Given the description of an element on the screen output the (x, y) to click on. 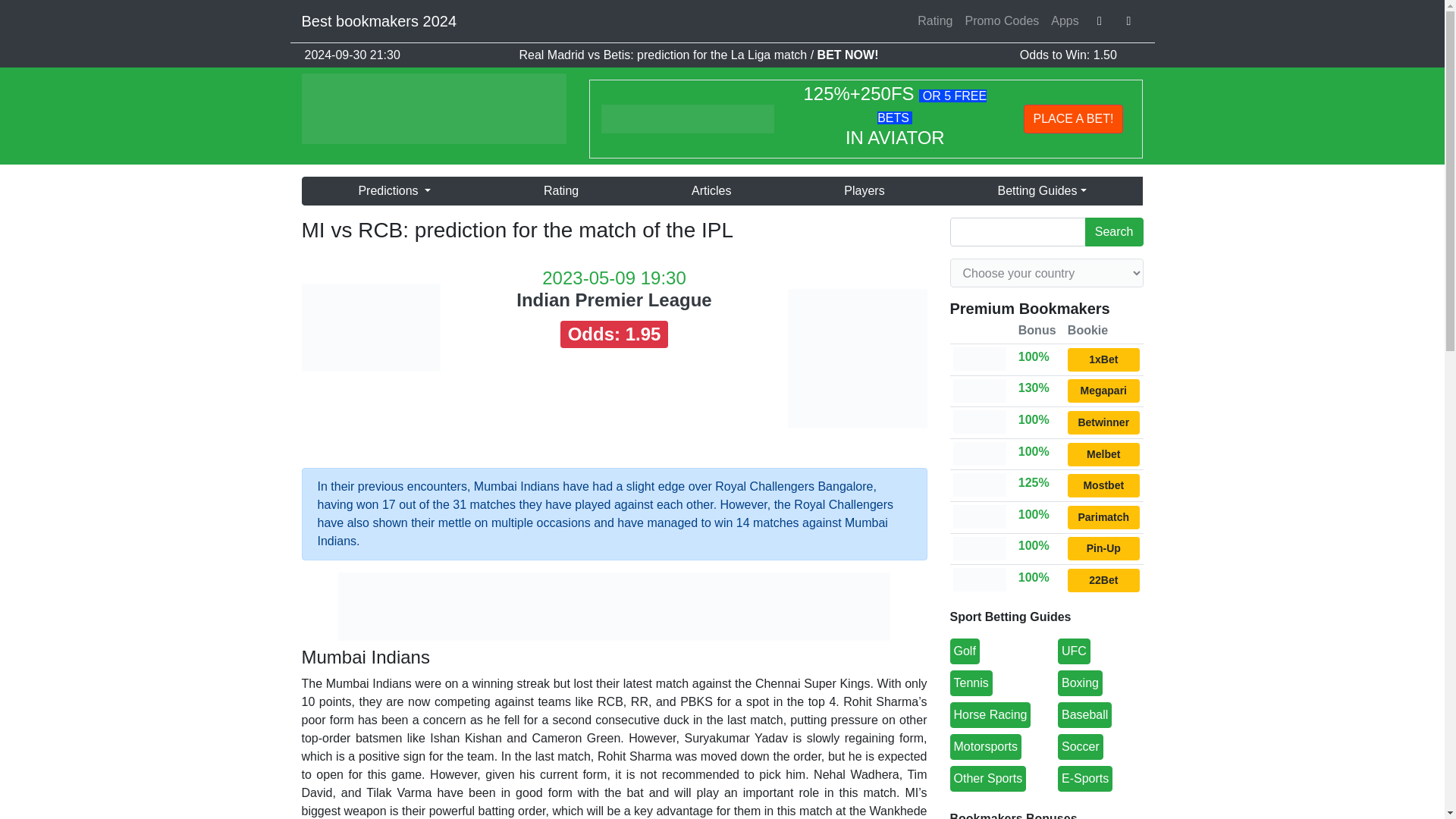
Promo code: ODDS2WIN (1103, 390)
Odds to Win: 1.50 (1068, 54)
Promo code: ODDS2WIN (1103, 359)
Predictions (394, 190)
Promo code: ODDS2WIN (1103, 422)
Articles (710, 190)
2024-09-30 21:30 (352, 54)
Betting Guides (1041, 190)
Rating (560, 190)
Players (863, 190)
